Given the description of an element on the screen output the (x, y) to click on. 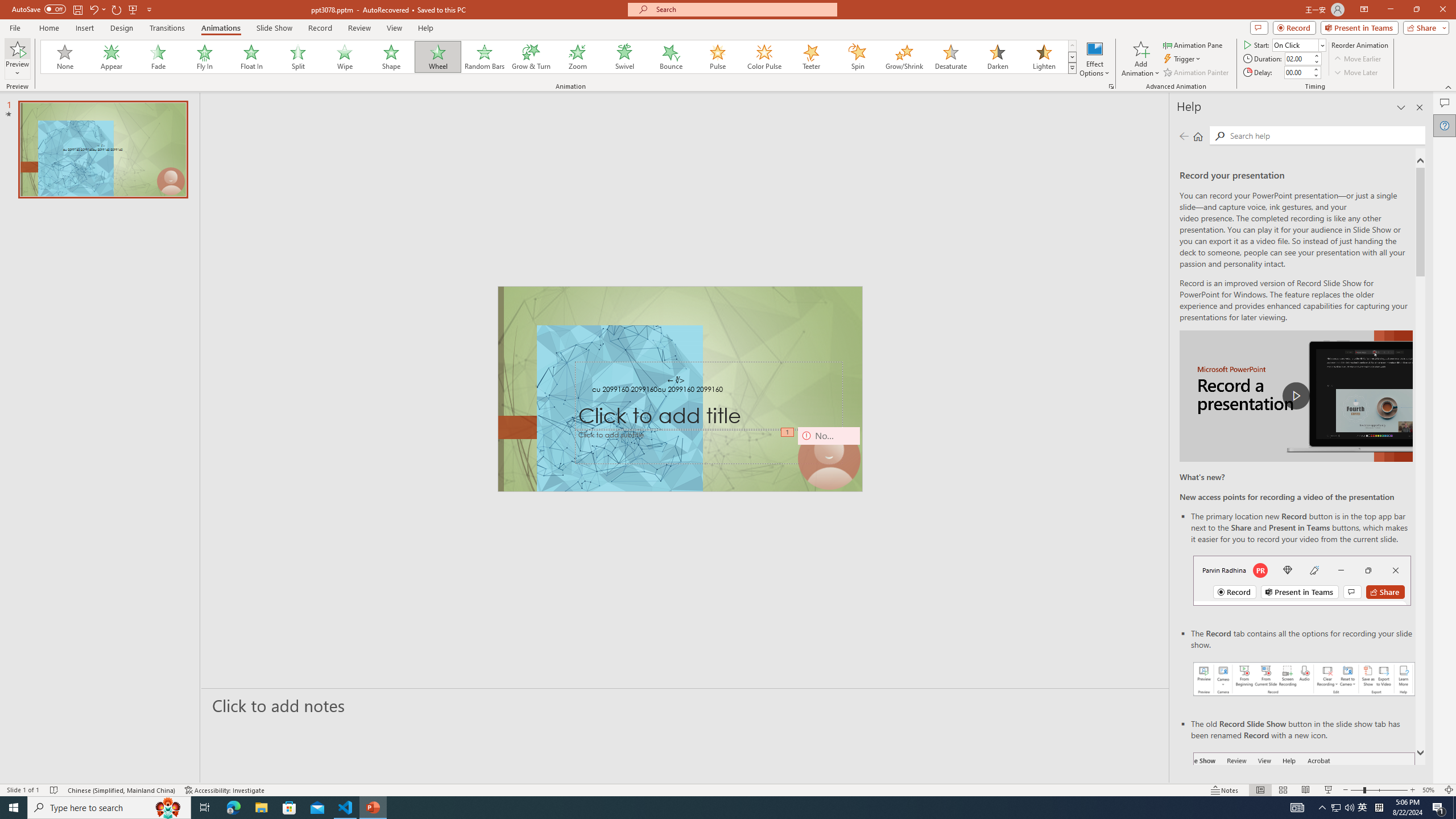
AutomationID: AnimationGallery (558, 56)
Trigger (1182, 58)
Bounce (670, 56)
Split (298, 56)
Desaturate (950, 56)
Camera 9, No camera detected. (828, 457)
Shape (391, 56)
Animation Pane (1193, 44)
